Given the description of an element on the screen output the (x, y) to click on. 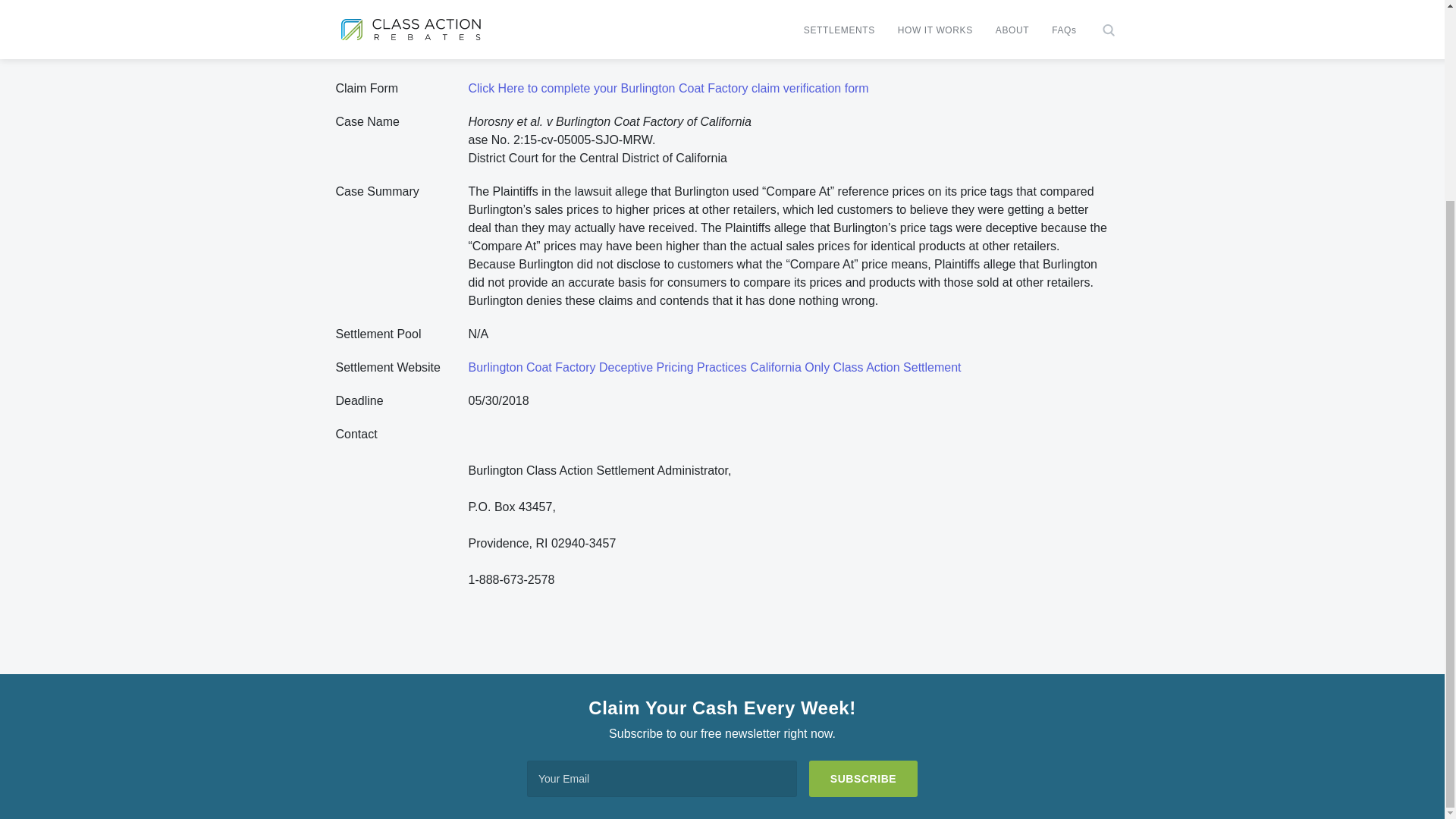
SUBSCRIBE (863, 778)
